Given the description of an element on the screen output the (x, y) to click on. 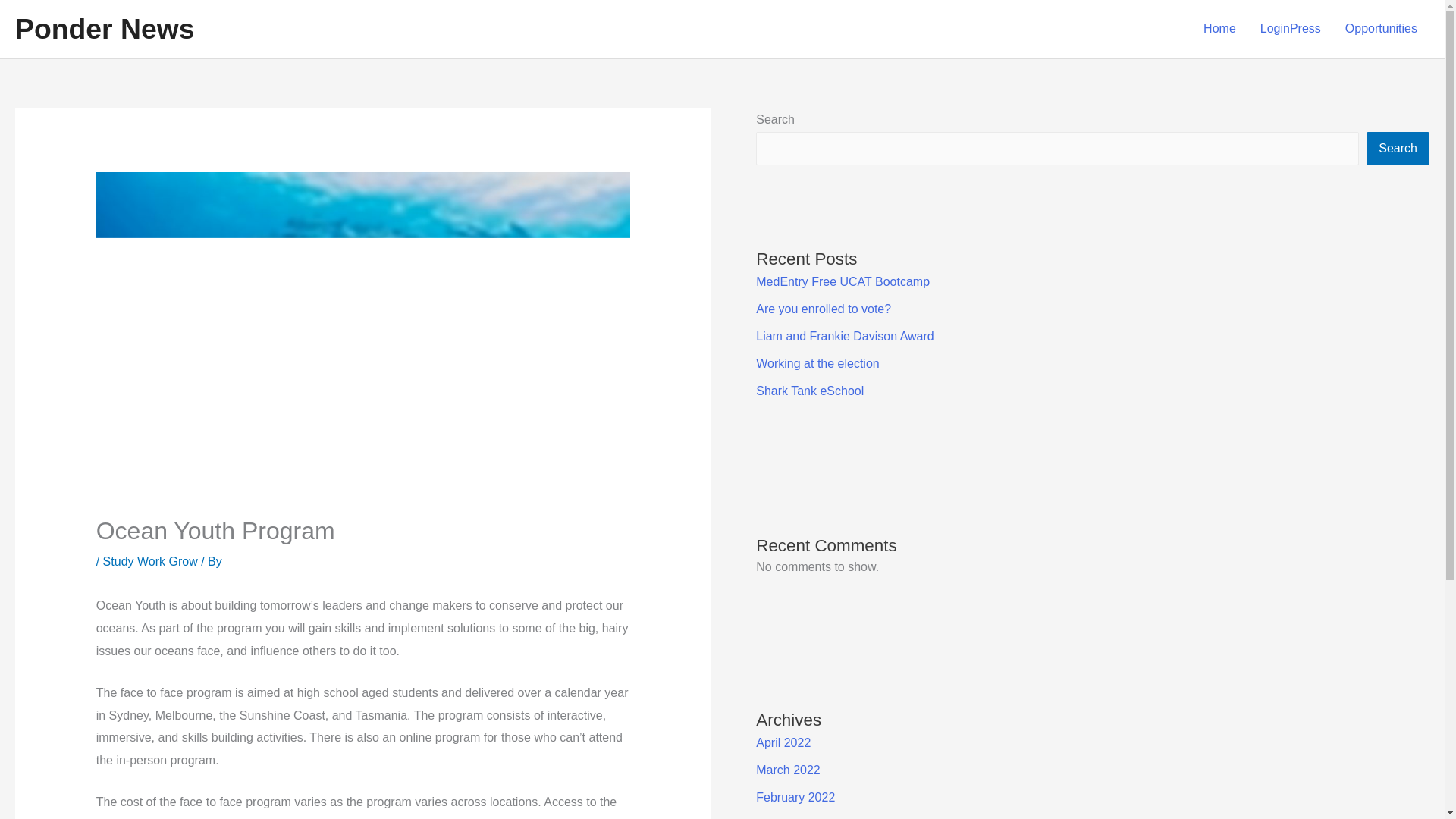
Home (1219, 28)
LoginPress (1290, 28)
March 2022 (788, 769)
Ponder News (103, 29)
Working at the election (817, 363)
February 2022 (794, 797)
April 2022 (782, 742)
MedEntry Free UCAT Bootcamp (842, 281)
Shark Tank eSchool (809, 390)
Study Work Grow (150, 561)
Are you enrolled to vote? (823, 308)
Search (1398, 148)
Liam and Frankie Davison Award (844, 336)
Opportunities (1381, 28)
